Given the description of an element on the screen output the (x, y) to click on. 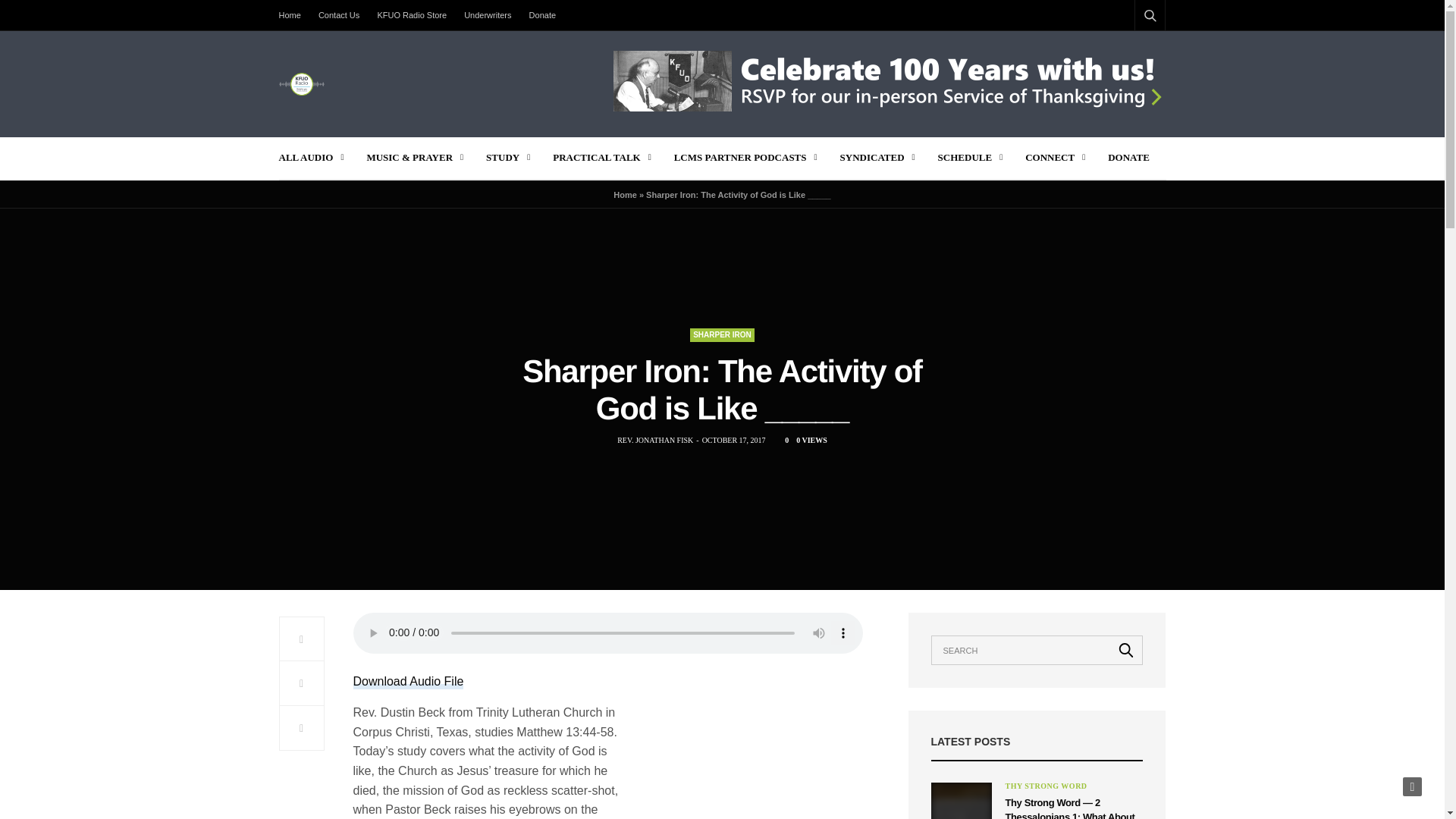
Sharper Iron (722, 335)
ALL AUDIO (311, 157)
KFUO Radio Store (411, 15)
Posts by Rev. Jonathan Fisk (655, 440)
Search (1125, 649)
Contact Us (338, 15)
Search (1129, 51)
Underwriters (487, 15)
Home (293, 15)
Donate (542, 15)
